Given the description of an element on the screen output the (x, y) to click on. 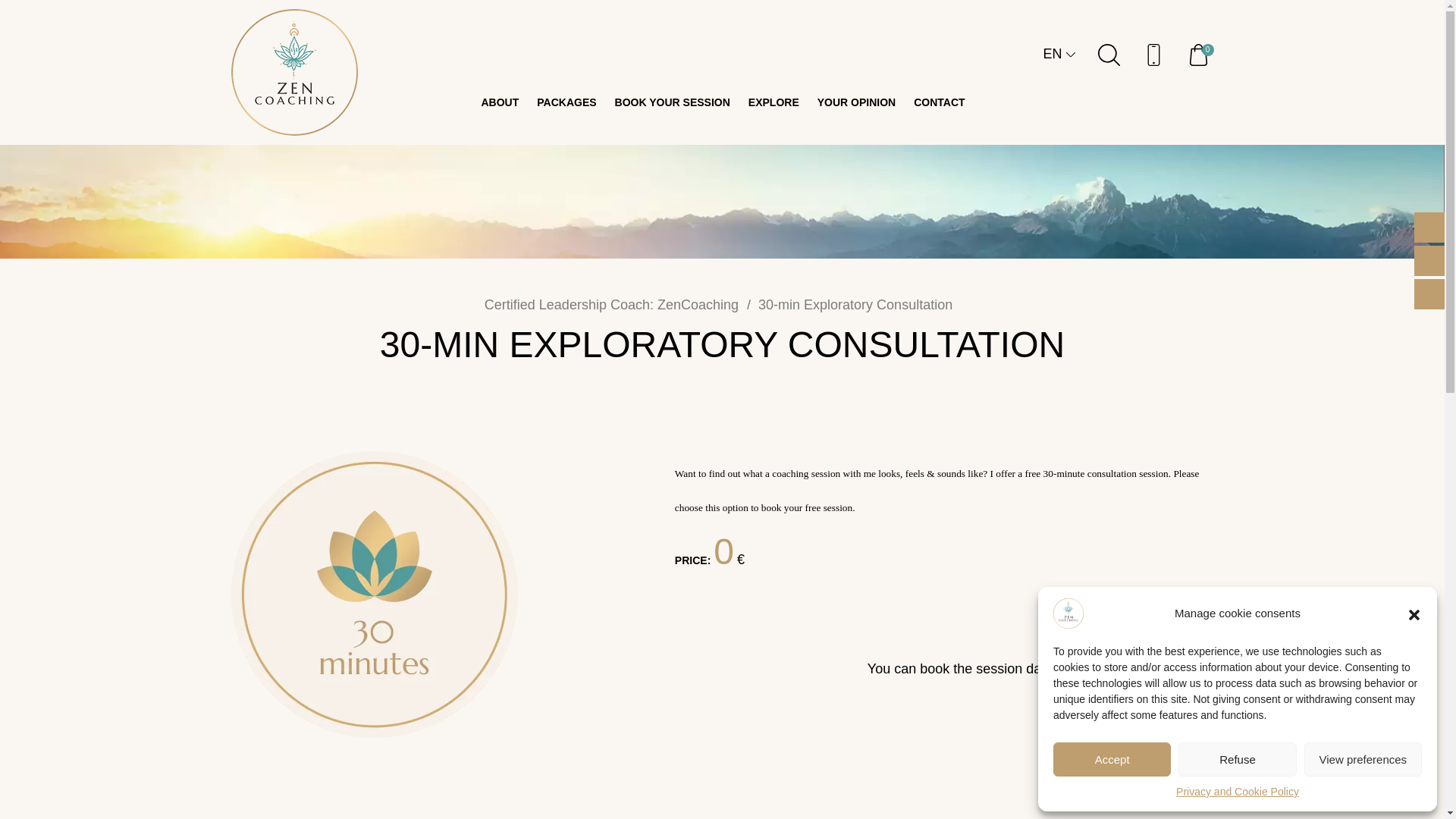
0 (1201, 58)
YOUR OPINION (855, 101)
View preferences (1363, 759)
CONTACT (938, 101)
Refuse (1236, 759)
Privacy and Cookie Policy (1237, 791)
BOOK YOUR SESSION (672, 101)
ABOUT (499, 101)
EXPLORE (773, 101)
Accept (1111, 759)
PACKAGES (566, 101)
